Given the description of an element on the screen output the (x, y) to click on. 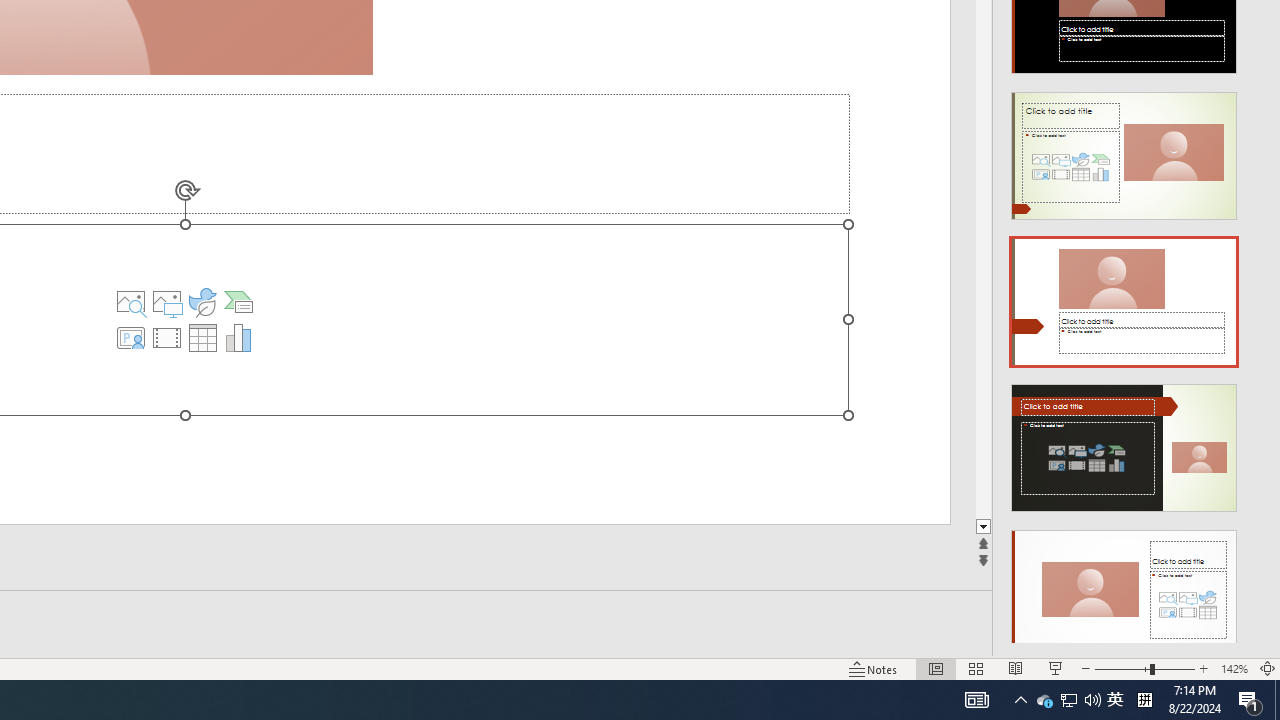
Notification Chevron (1020, 699)
Insert Video (167, 337)
